Given the description of an element on the screen output the (x, y) to click on. 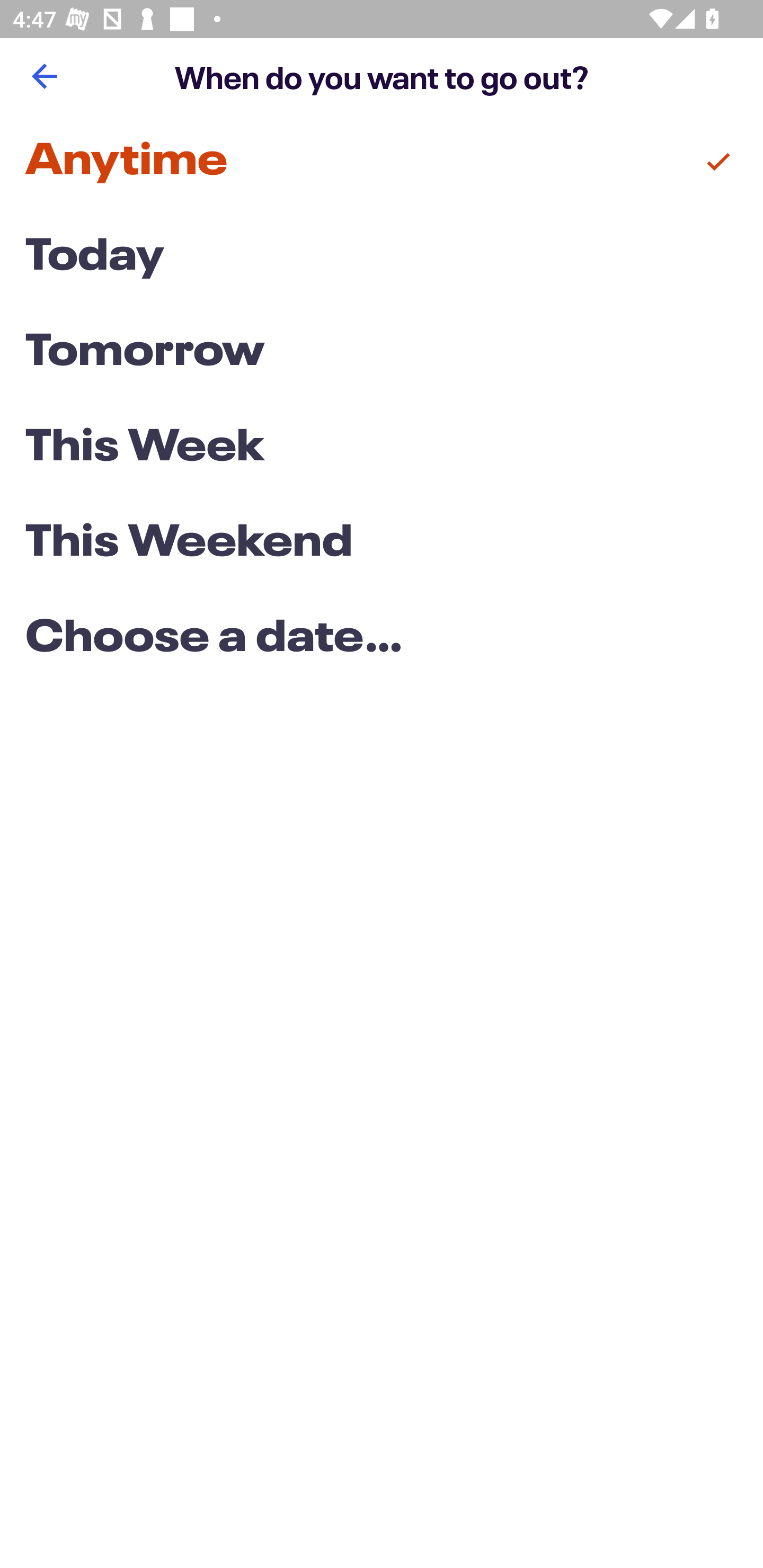
Back button (44, 75)
Anytime (381, 161)
Today (381, 257)
Tomorrow (381, 352)
This Week (381, 447)
This Weekend (381, 542)
Choose a date… (381, 638)
